Given the description of an element on the screen output the (x, y) to click on. 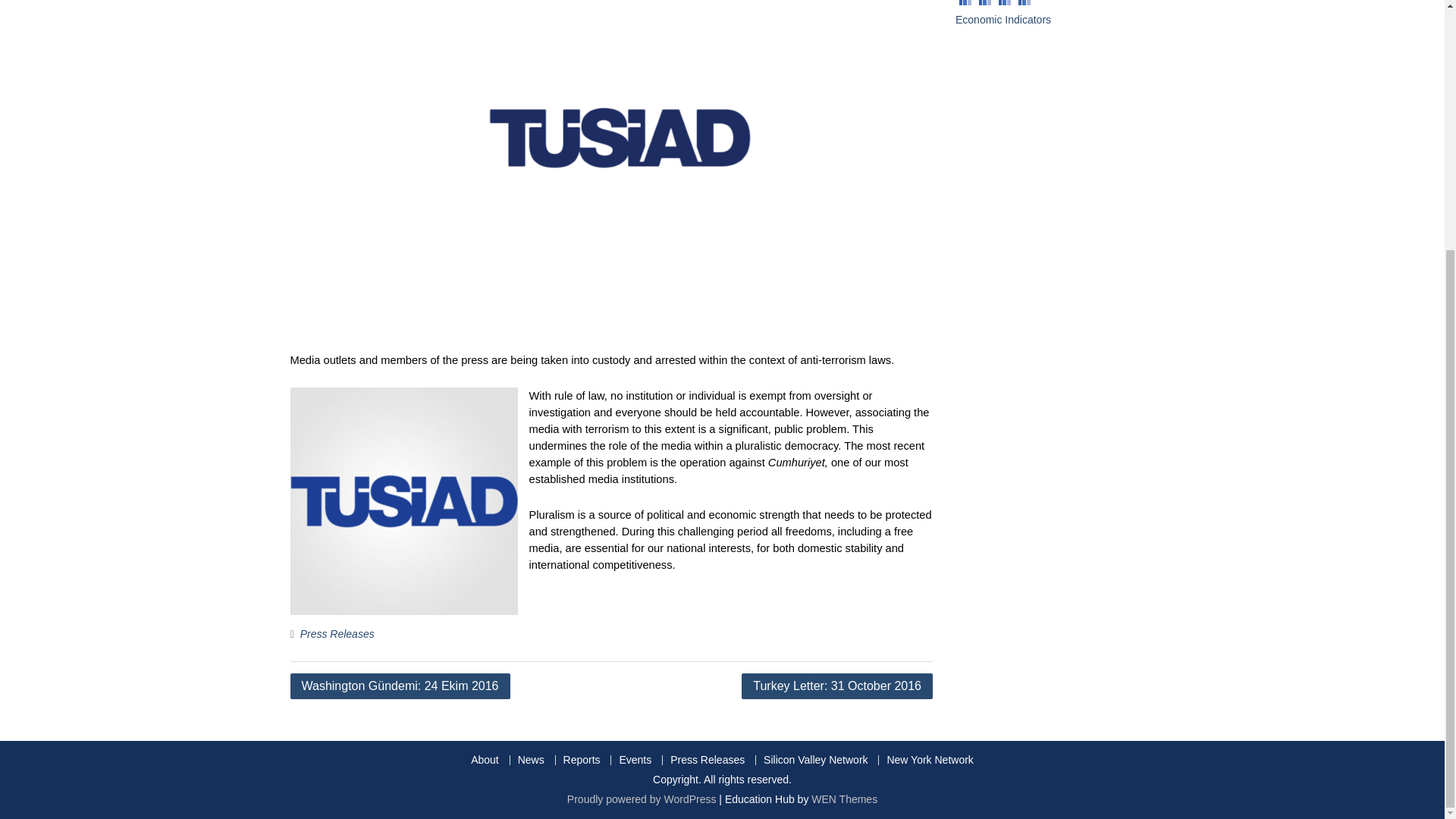
Events (634, 759)
Turkey Letter: 31 October 2016 (837, 686)
About (484, 759)
Press Releases (336, 633)
Reports (581, 759)
New York Network (928, 759)
Silicon Valley Network (815, 759)
News (530, 759)
Proudly powered by WordPress (641, 799)
Press Releases (707, 759)
